Given the description of an element on the screen output the (x, y) to click on. 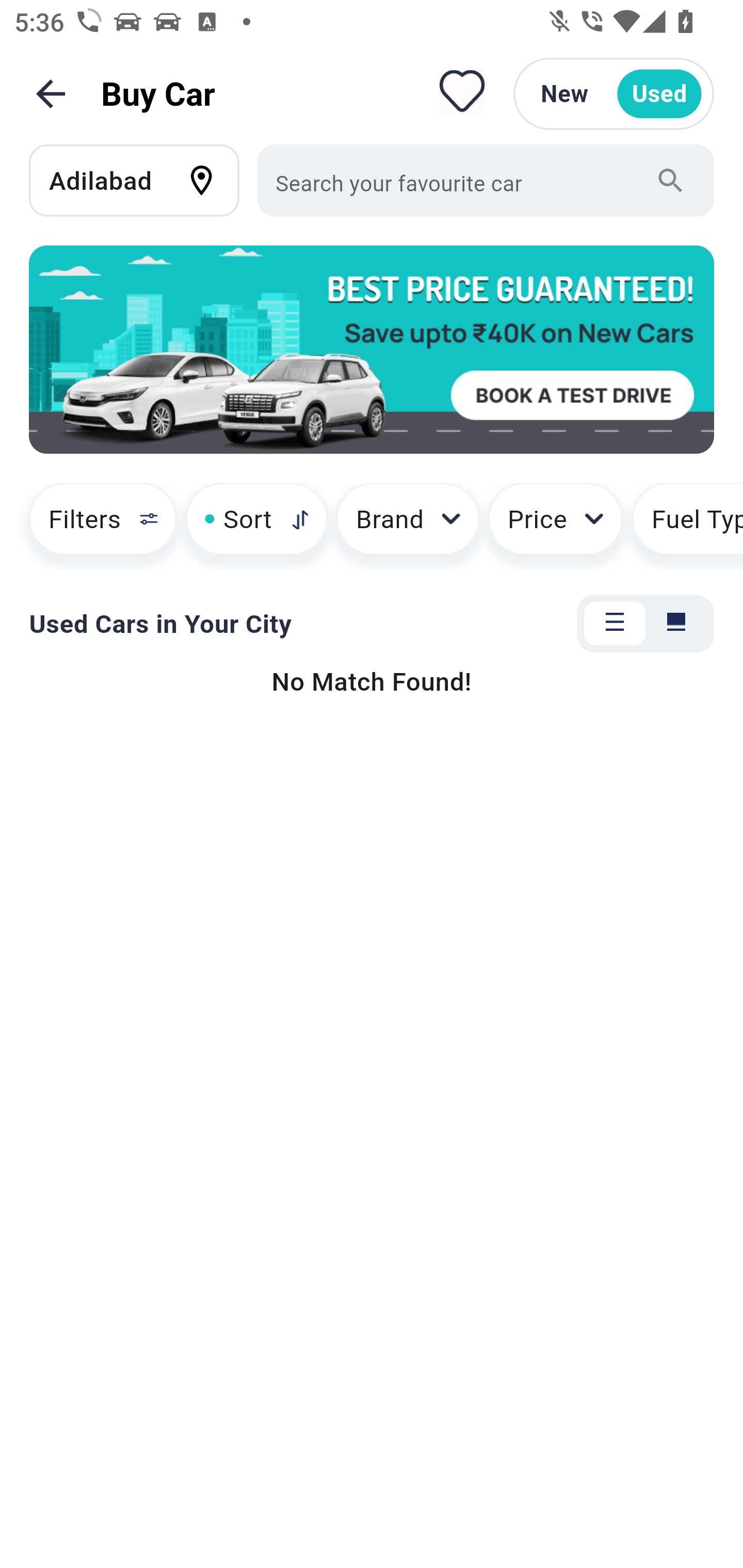
Back (50, 93)
New (564, 93)
Used (659, 93)
Adilabad (142, 180)
Filters (93, 525)
Sort (255, 525)
Brand (407, 525)
Price (555, 525)
Fuel Type (687, 525)
Tab 1 of 2 (614, 624)
Tab 2 of 2 (675, 624)
